Given the description of an element on the screen output the (x, y) to click on. 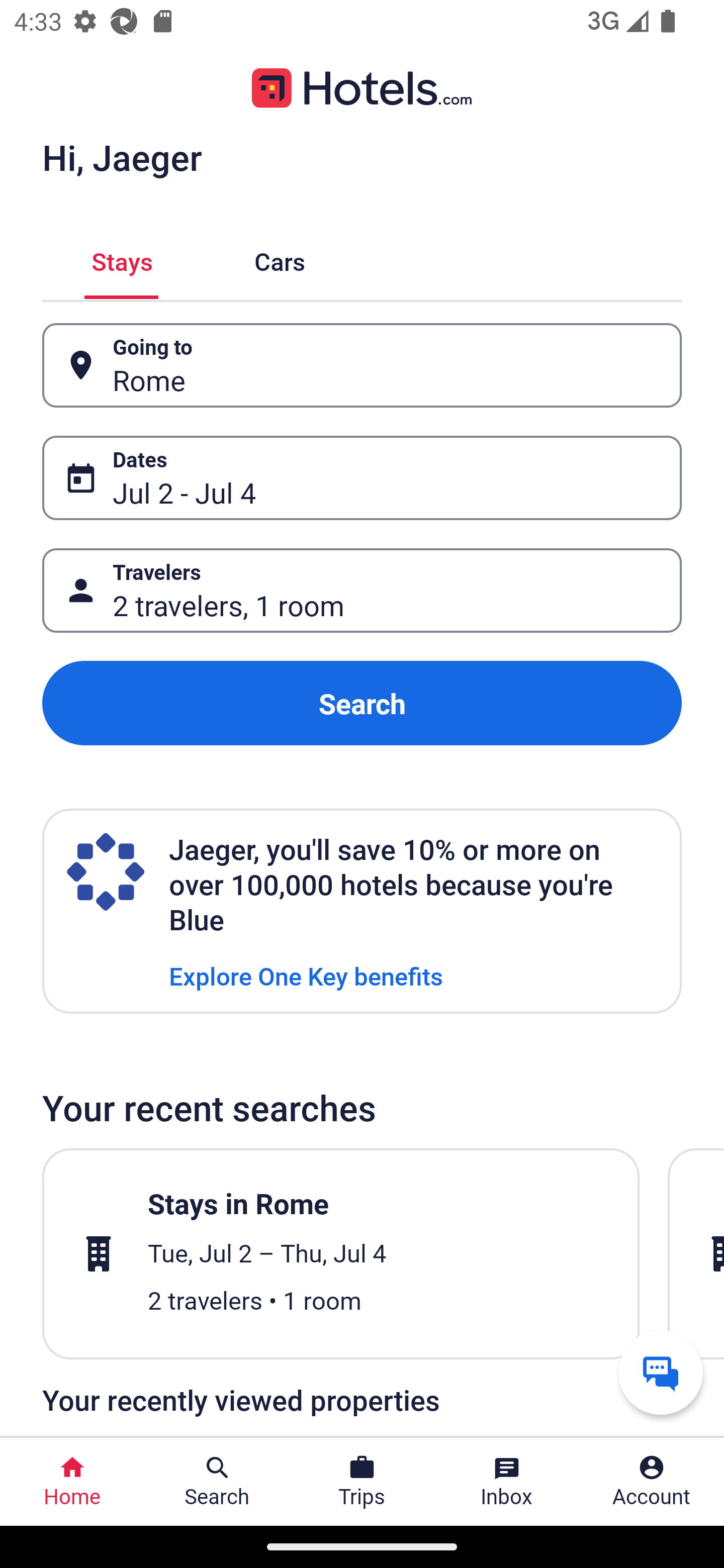
Hi, Jaeger (121, 156)
Cars (279, 259)
Going to Button Rome (361, 365)
Dates Button Jul 2 - Jul 4 (361, 477)
Travelers Button 2 travelers, 1 room (361, 590)
Search (361, 702)
Get help from a virtual agent (660, 1371)
Search Search Button (216, 1481)
Trips Trips Button (361, 1481)
Inbox Inbox Button (506, 1481)
Account Profile. Button (651, 1481)
